Given the description of an element on the screen output the (x, y) to click on. 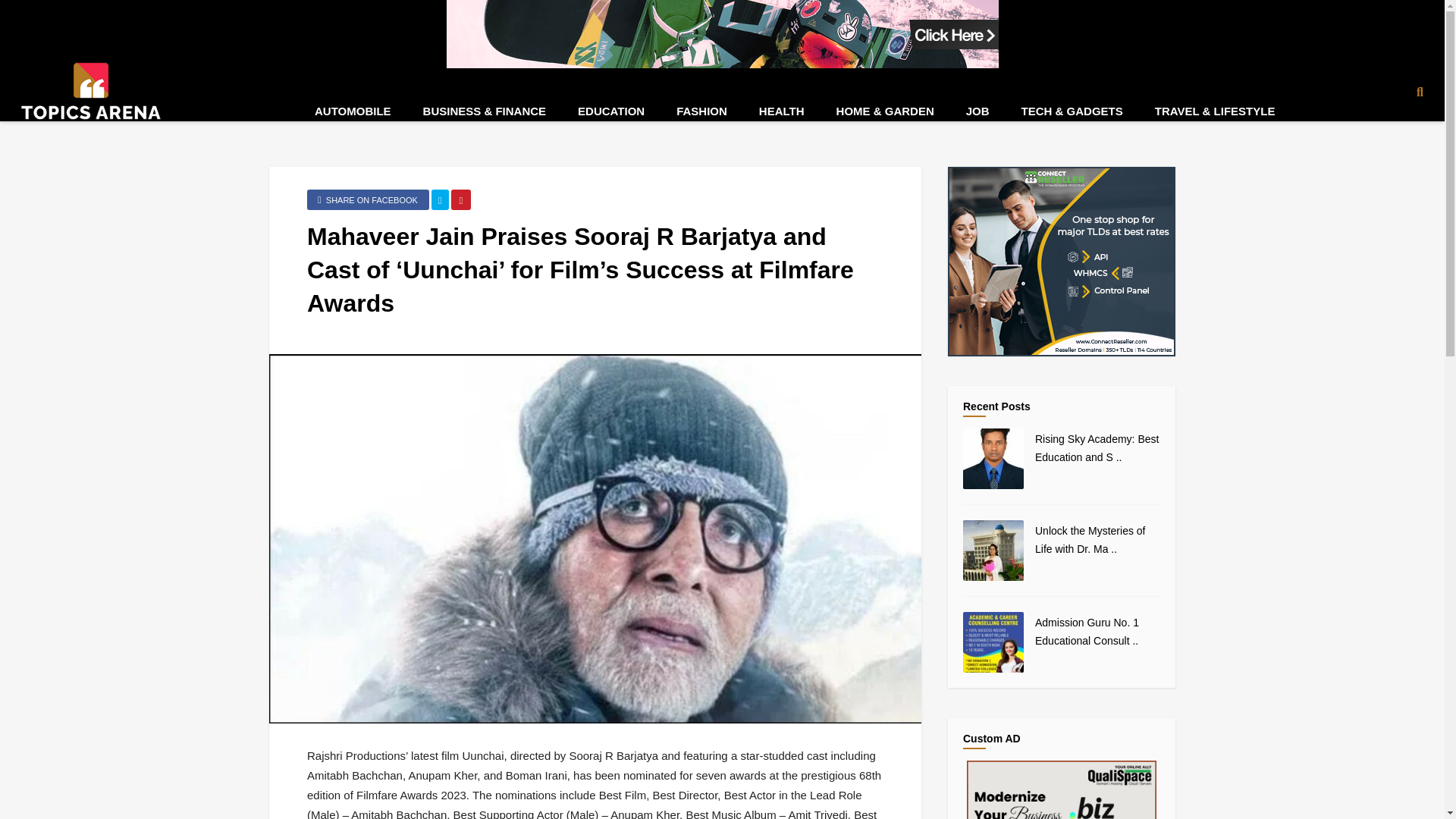
Rising Sky Academy: Best Education and S .. (1096, 448)
JOB (978, 111)
SHARE ON FACEBOOK (368, 199)
Search (1410, 137)
Admission Guru No. 1 Educational Consult .. (1086, 631)
EDUCATION (611, 111)
Unlock the Mysteries of Life with Dr. Ma .. (1090, 539)
HEALTH (781, 111)
AUTOMOBILE (352, 111)
FASHION (701, 111)
